Given the description of an element on the screen output the (x, y) to click on. 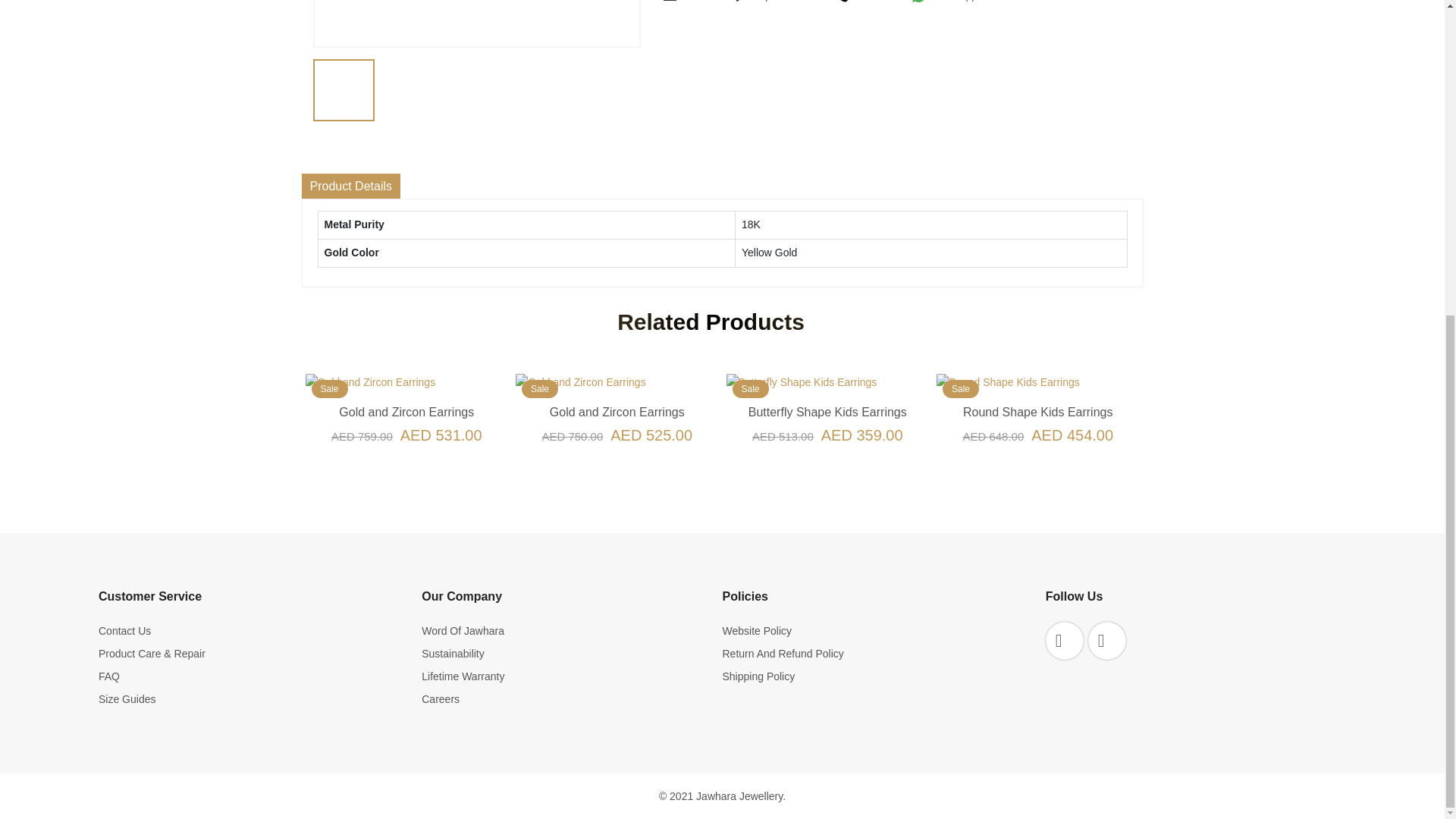
Gold and Zircon Earrings (617, 412)
Round Shape Kids Earrings (1037, 412)
facebook (1064, 640)
Butterfly Shape Kids Earrings (827, 412)
Gold and Zircon Earrings (406, 412)
instagram (1106, 640)
